Given the description of an element on the screen output the (x, y) to click on. 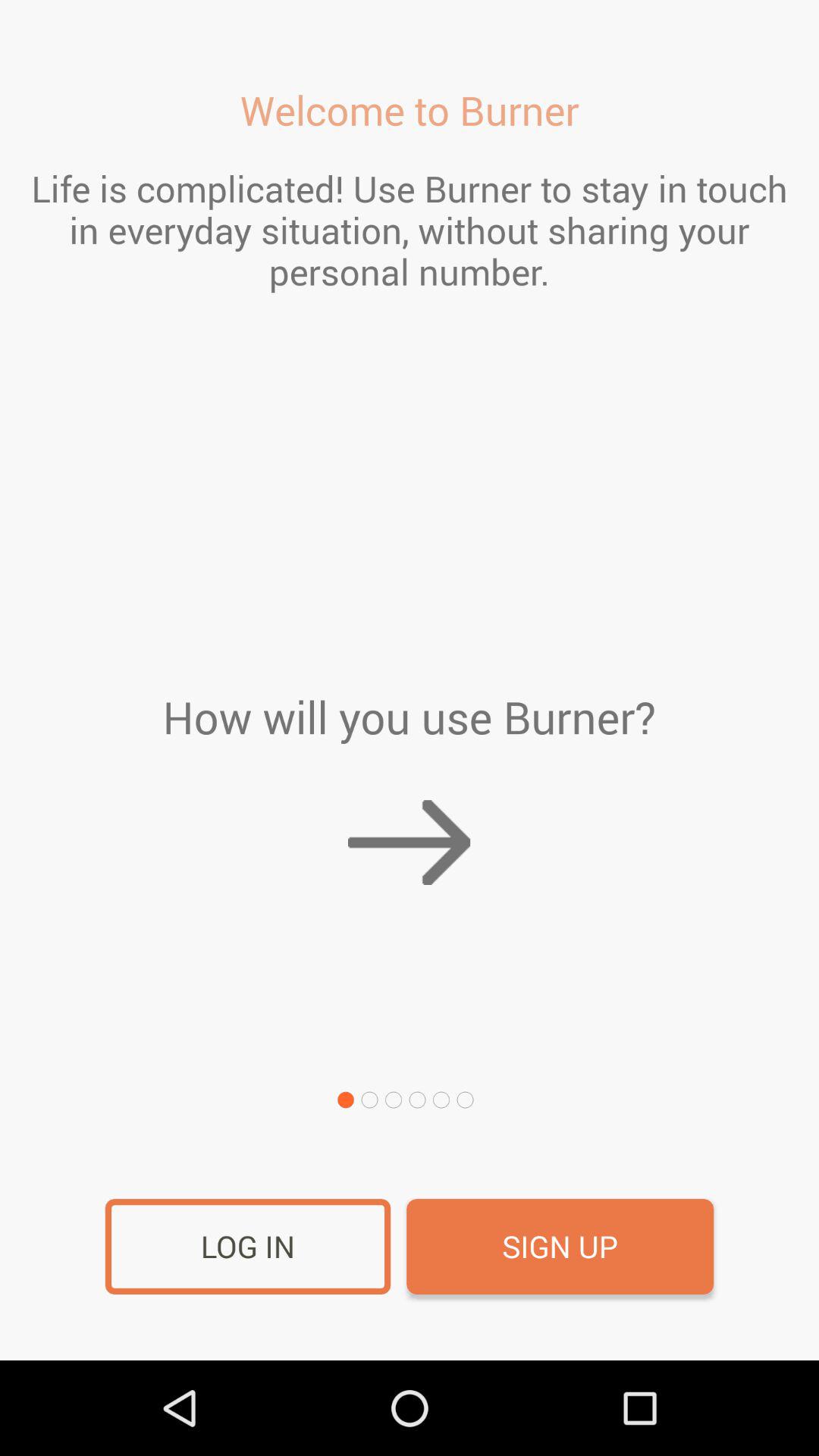
click the sign up icon (559, 1246)
